Given the description of an element on the screen output the (x, y) to click on. 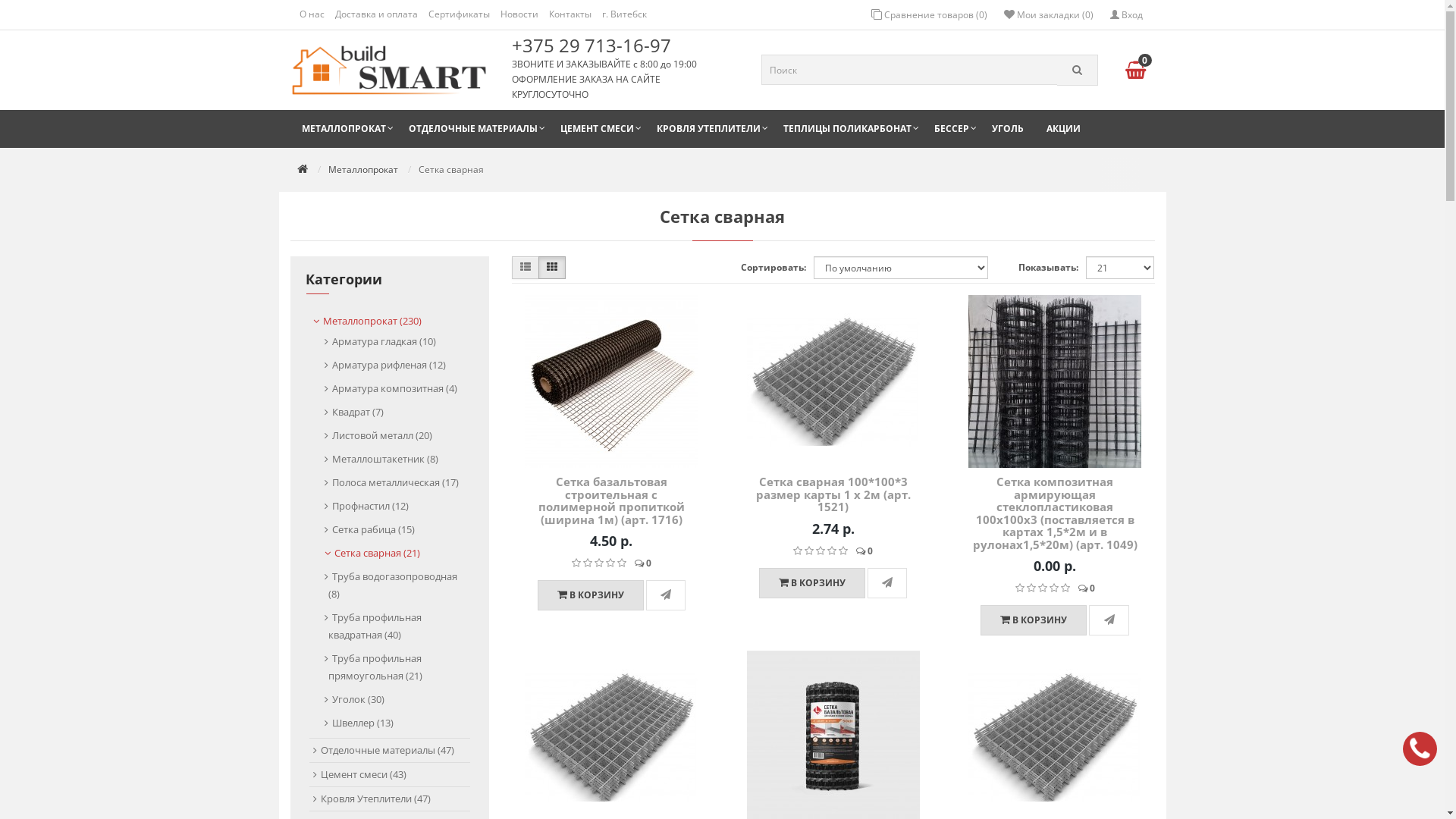
+375 29 713-16-97 Element type: text (594, 44)
0 Element type: text (1133, 69)
